Given the description of an element on the screen output the (x, y) to click on. 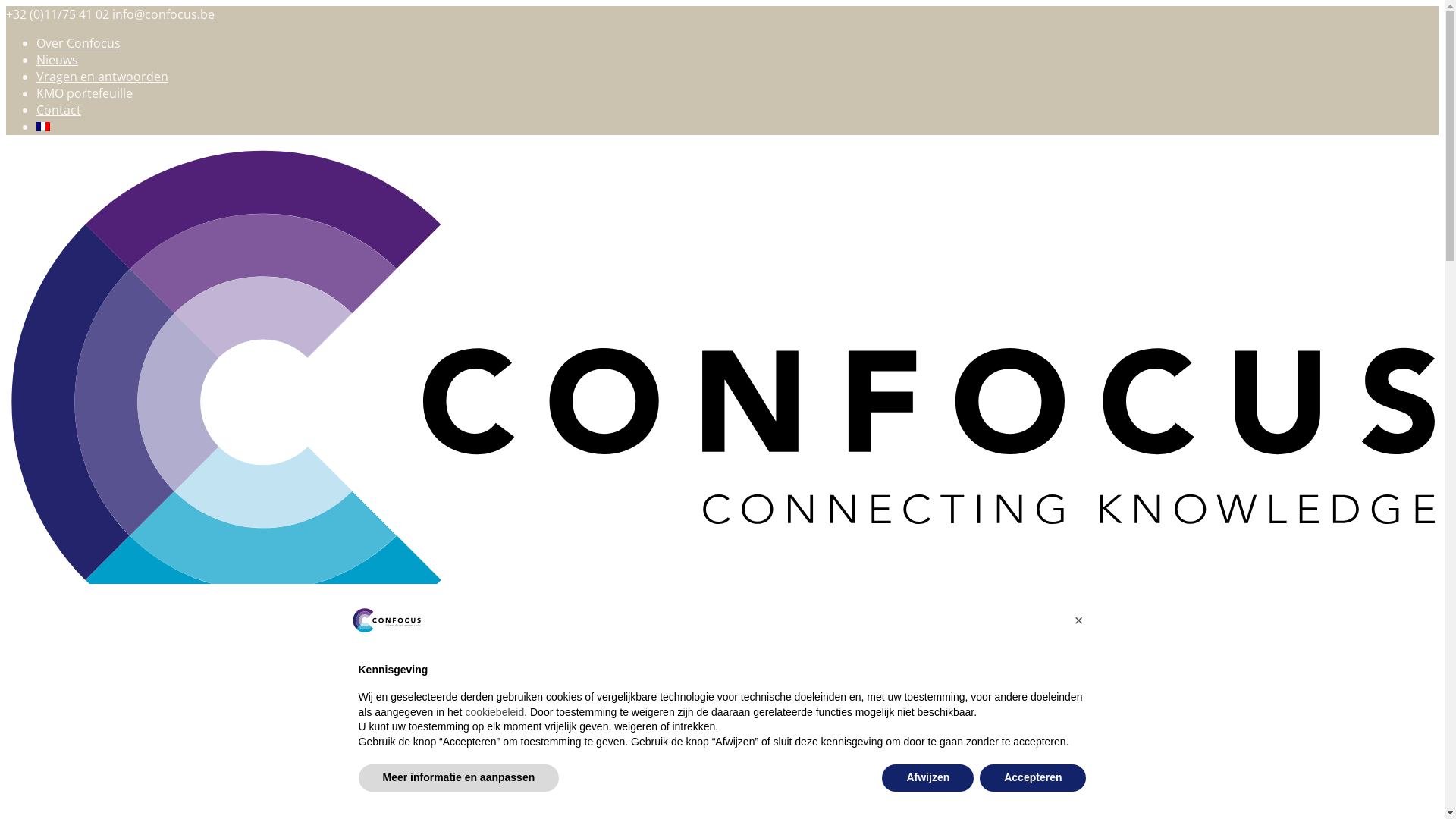
Aanbod opleidingen en webinars Element type: text (130, 714)
KMO portefeuille Element type: text (84, 92)
Asbestopleiding Element type: text (82, 730)
info@confocus.be Element type: text (163, 14)
Sectoren Element type: text (61, 697)
Meer informatie en aanpassen Element type: text (457, 777)
Info webinars Element type: text (74, 747)
Contact Element type: text (58, 109)
Nieuws Element type: text (57, 59)
Zoek naar: Element type: hover (73, 793)
Over Confocus Element type: text (78, 42)
cookiebeleid Element type: text (494, 712)
Accepteren Element type: text (1032, 777)
My E-learning (platform) Element type: text (109, 764)
Afwijzen Element type: text (927, 777)
Vragen en antwoorden Element type: text (102, 76)
